Given the description of an element on the screen output the (x, y) to click on. 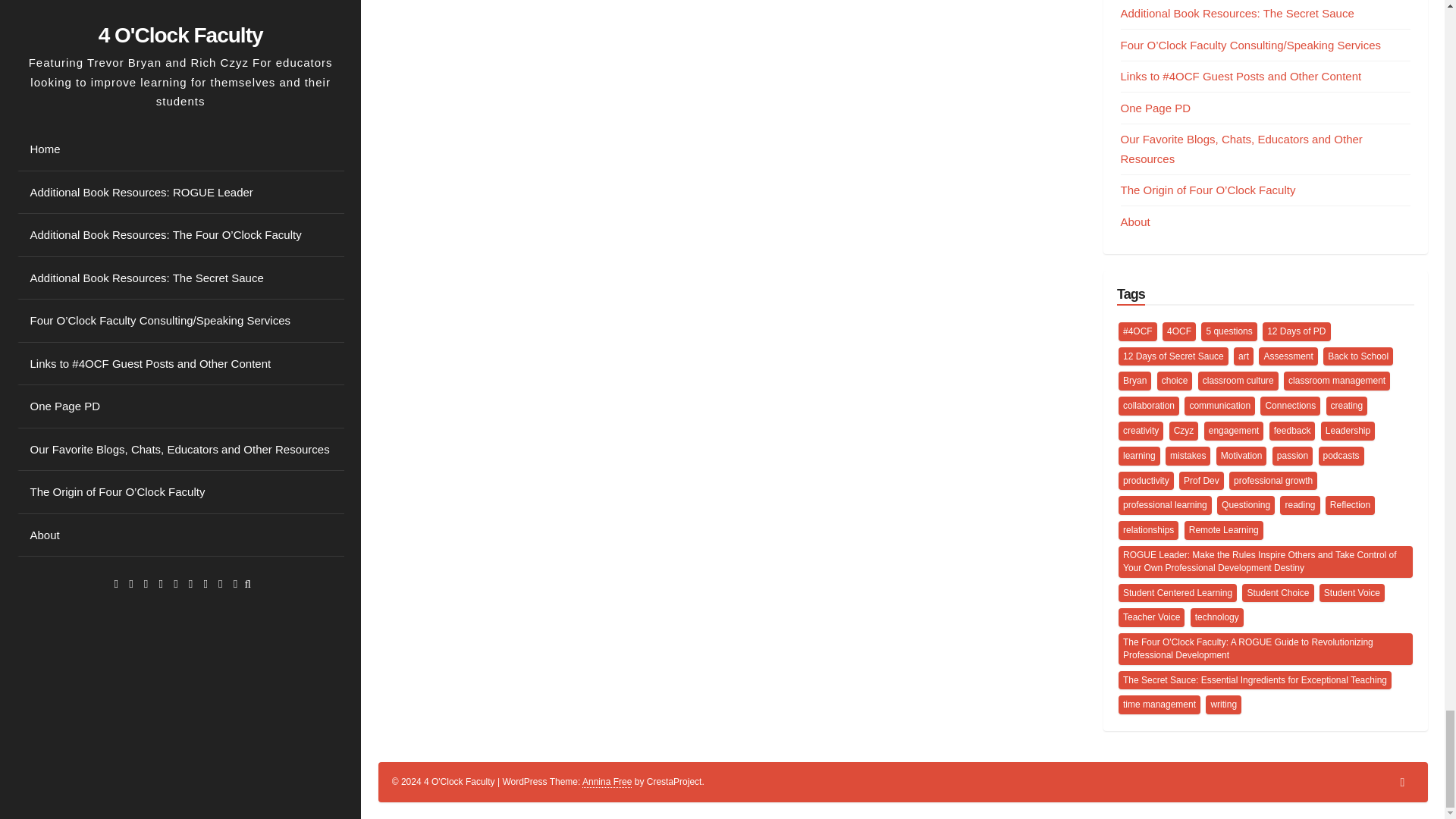
Annina Theme (606, 781)
